Given the description of an element on the screen output the (x, y) to click on. 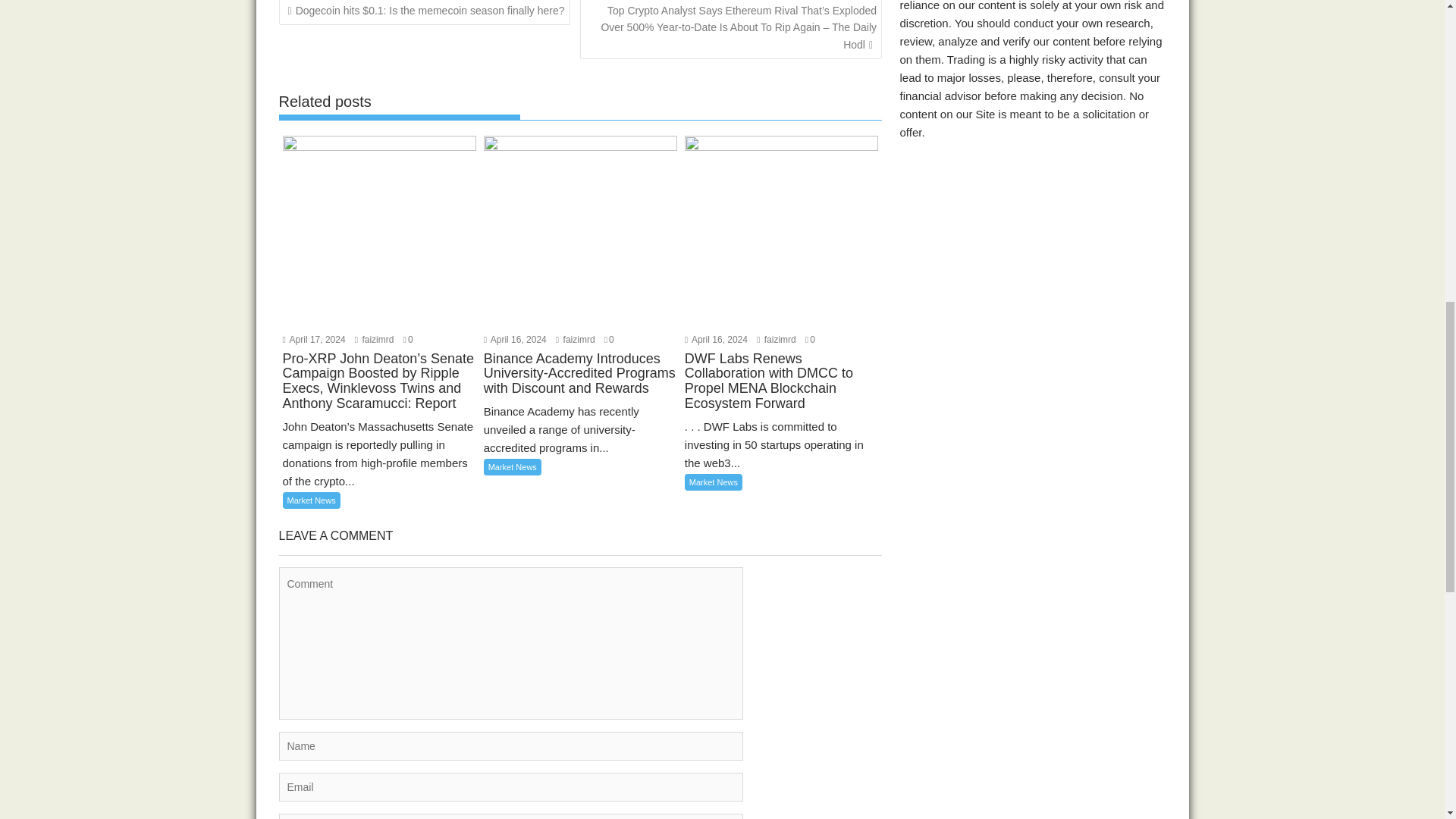
faizimrd (374, 339)
faizimrd (575, 339)
faizimrd (776, 339)
